Given the description of an element on the screen output the (x, y) to click on. 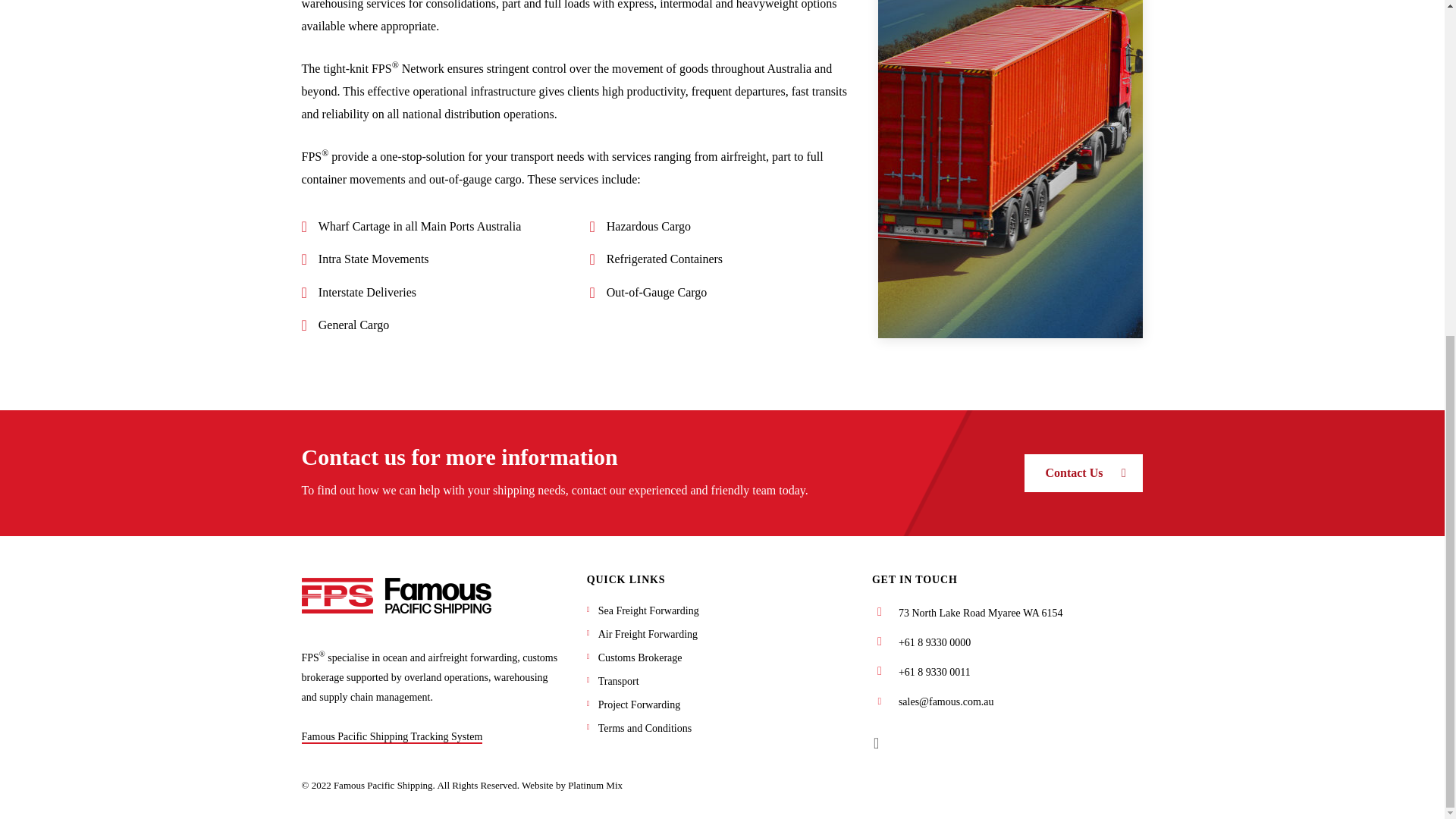
Contact Us (1083, 473)
Famous Pacific Shipping Tracking System (392, 737)
Project Forwarding (638, 704)
Customs Brokerage (640, 657)
Platinum Mix (595, 785)
Transport (618, 681)
Contact Us (1083, 473)
Terms and Conditions (644, 727)
Air Freight Forwarding (647, 633)
Sea Freight Forwarding (648, 610)
